Given the description of an element on the screen output the (x, y) to click on. 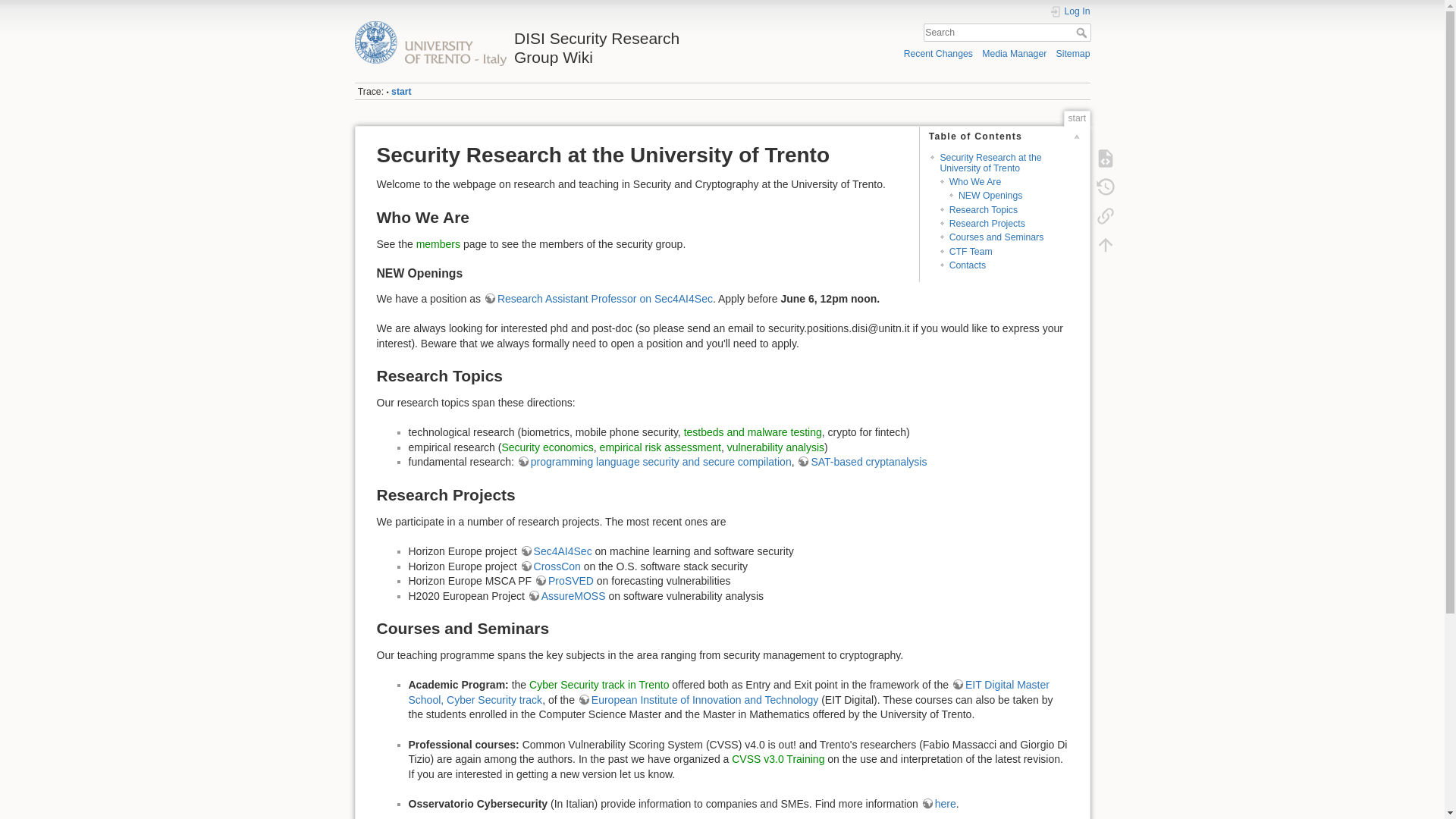
Research Assistant Professor on Sec4AI4Sec (598, 298)
programming language security and secure compilation (654, 461)
Sitemap (1073, 53)
empirical risk assessment (659, 447)
EIT Digital Master School, Cyber Security track (727, 691)
AssureMOSS (566, 595)
SAT-based cryptanalysis (861, 461)
Security Research at the University of Trento (990, 162)
Courses and Seminars (996, 236)
ProSVED (564, 580)
vulnerability analysis (775, 447)
Log In (1069, 11)
testbeds and malware testing (753, 431)
Security economics (546, 447)
CVSS v3.0 Training (778, 758)
